Given the description of an element on the screen output the (x, y) to click on. 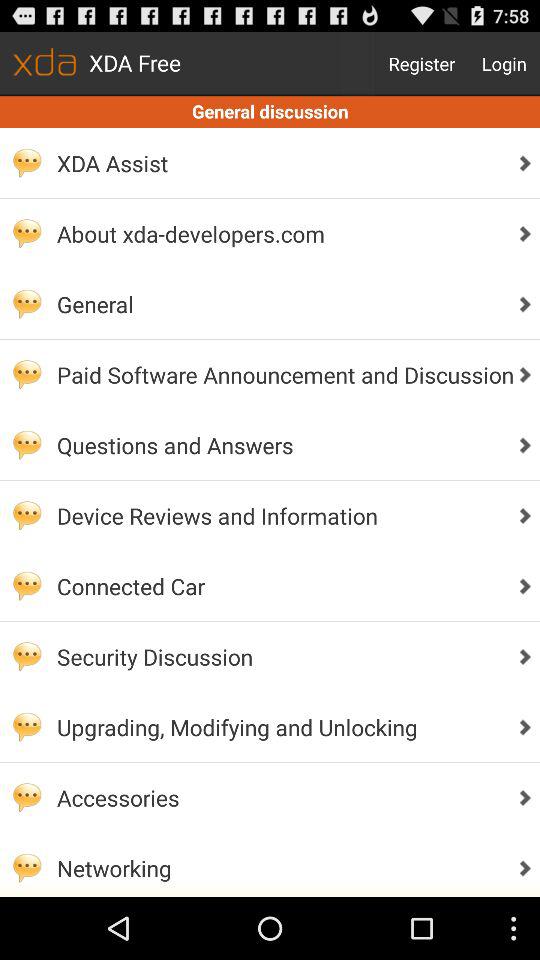
click the xda assist icon (280, 163)
